Given the description of an element on the screen output the (x, y) to click on. 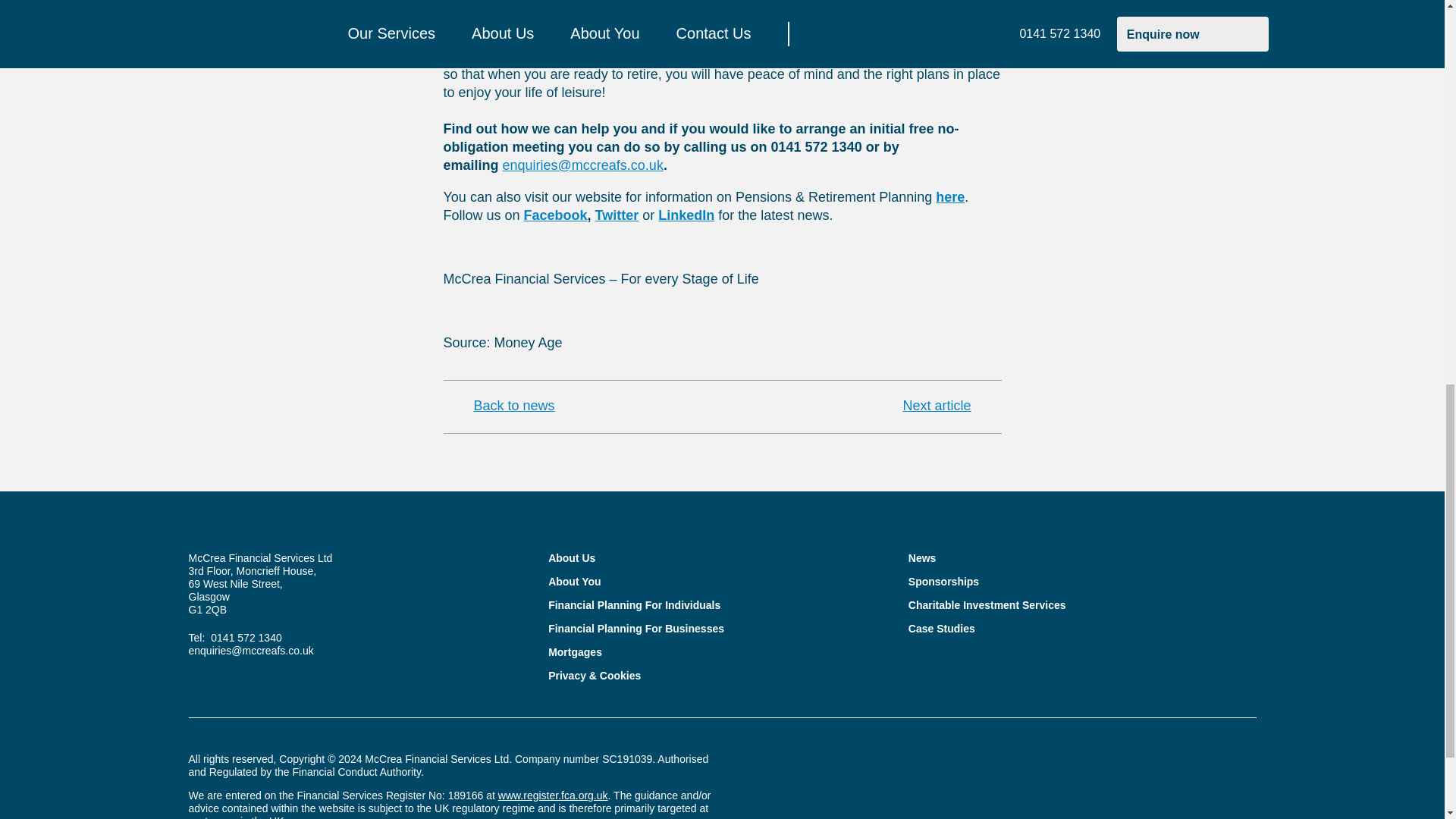
LinkedIn (686, 215)
Twitter (617, 215)
Facebook (556, 215)
here (949, 196)
